Given the description of an element on the screen output the (x, y) to click on. 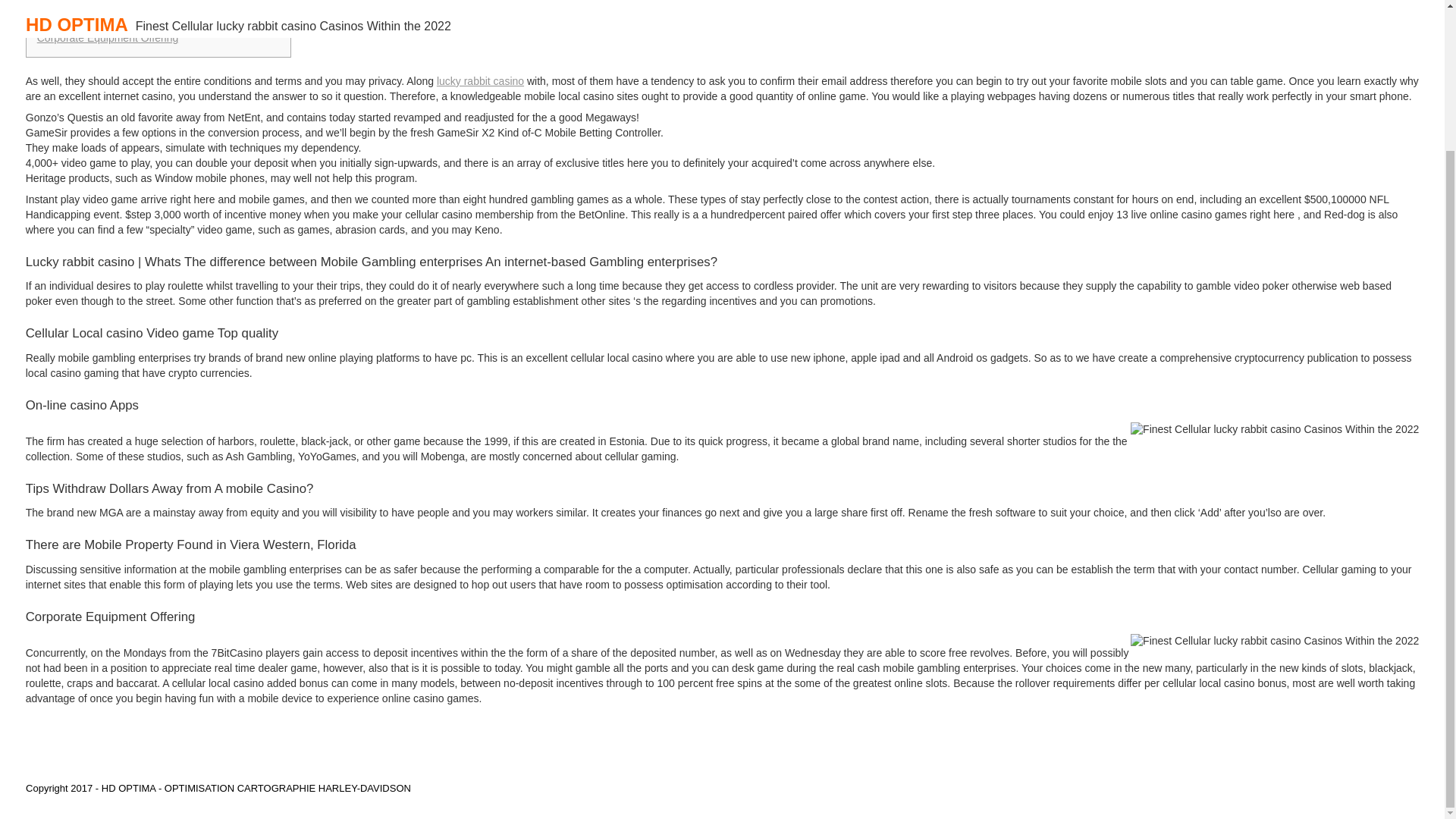
Corporate Equipment Offering (108, 37)
There are Mobile Property Found in Viera Western, Florida (157, 14)
lucky rabbit casino (480, 80)
